Given the description of an element on the screen output the (x, y) to click on. 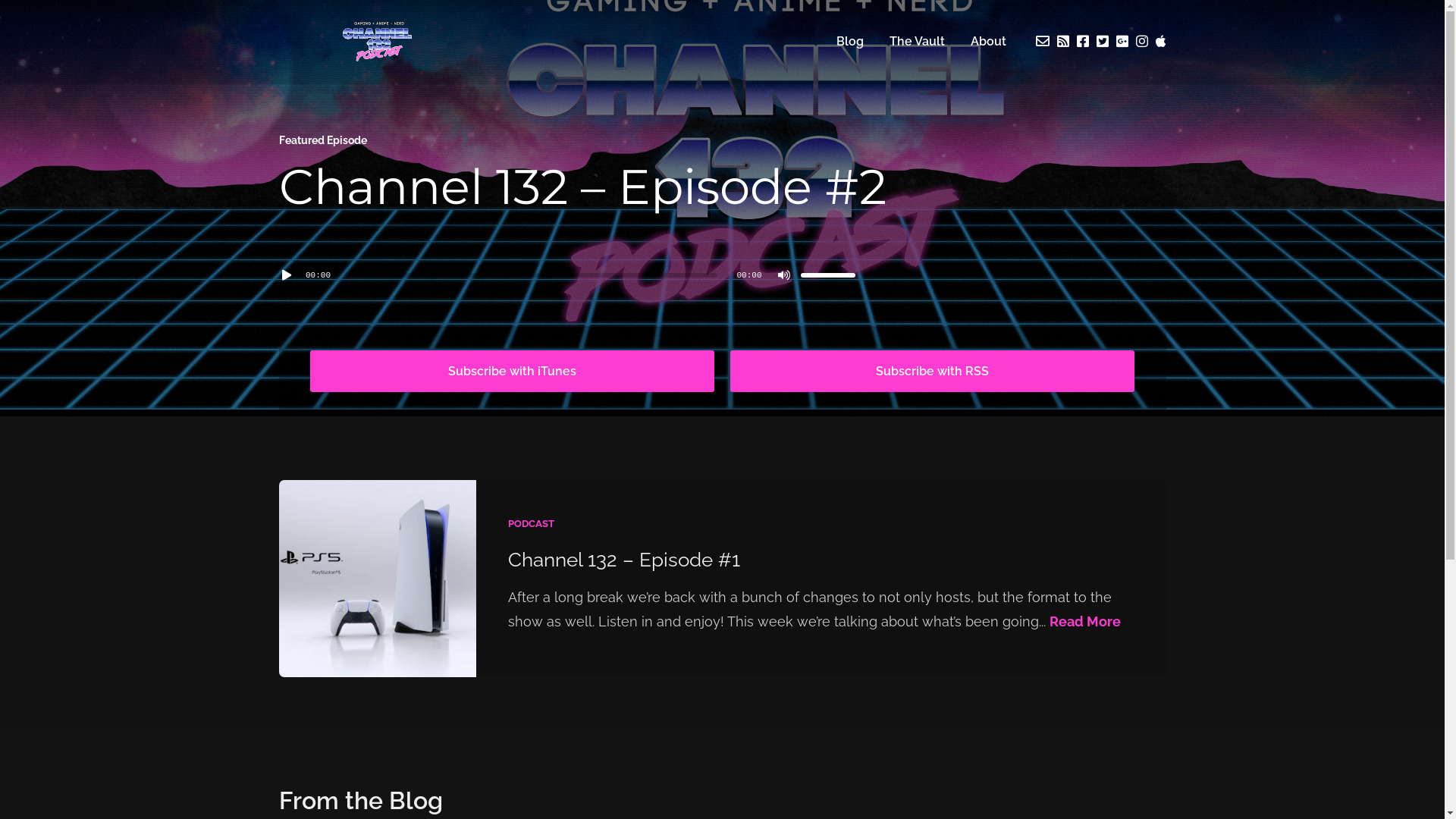
Use Up/Down Arrow keys to increase or decrease volume. Element type: text (827, 274)
Subscribe with RSS Element type: text (931, 371)
Mute Element type: hover (783, 274)
Blog Element type: text (850, 41)
Read More Element type: text (1084, 621)
Subscribe with iTunes Element type: text (511, 371)
About Element type: text (987, 41)
The Vault Element type: text (917, 41)
Play Element type: hover (286, 274)
PODCAST Element type: text (531, 523)
